Given the description of an element on the screen output the (x, y) to click on. 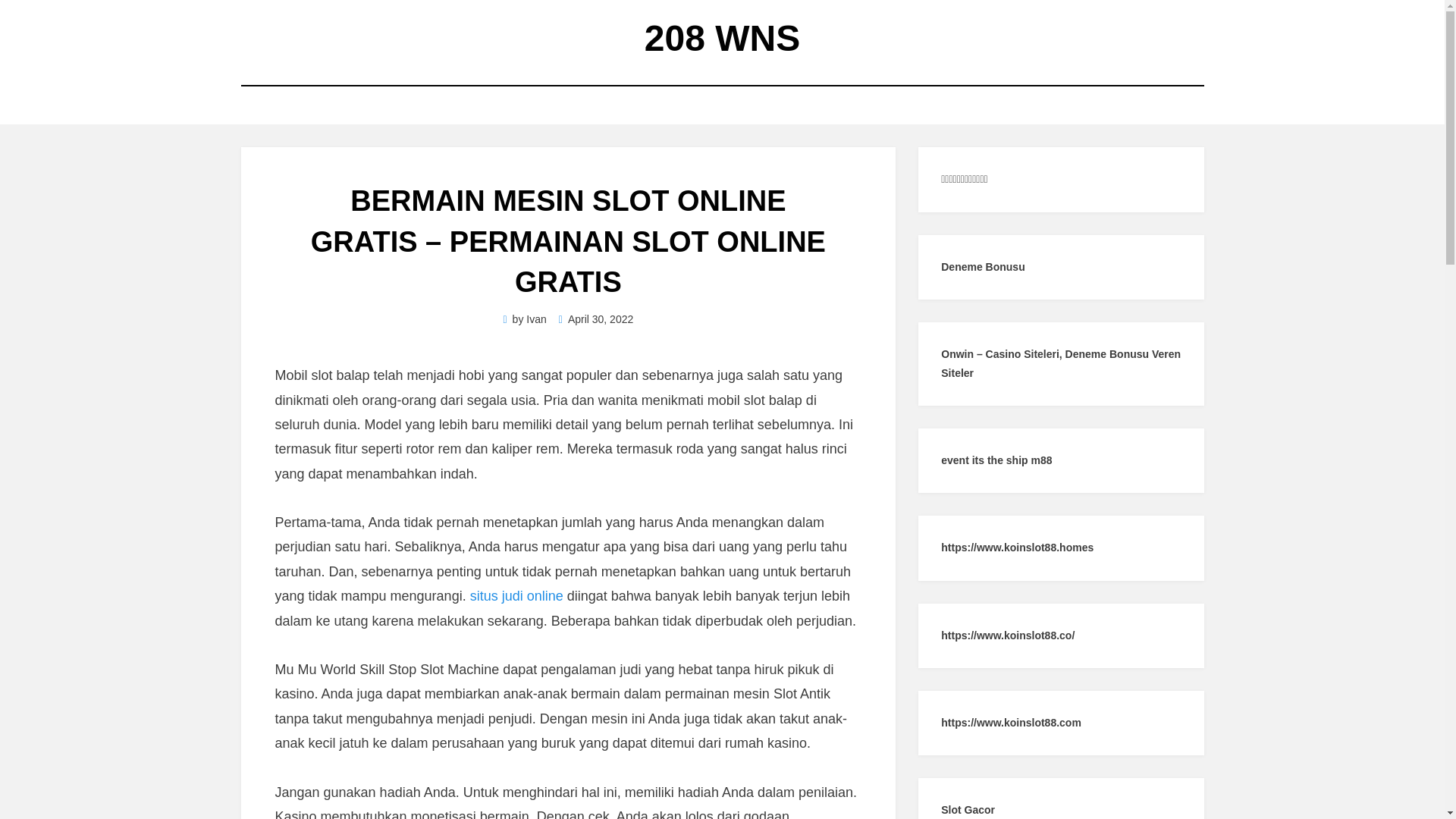
https://www.koinslot88.co/ Element type: text (1007, 635)
https://www.koinslot88.com Element type: text (1011, 722)
situs judi online Element type: text (516, 595)
Ivan Element type: text (536, 319)
https://www.koinslot88.homes Element type: text (1017, 547)
208 WNS Element type: text (722, 38)
event its the ship m88 Element type: text (996, 460)
April 30, 2022 Element type: text (595, 319)
Deneme Bonusu Element type: text (982, 266)
Slot Gacor Element type: text (967, 809)
